Given the description of an element on the screen output the (x, y) to click on. 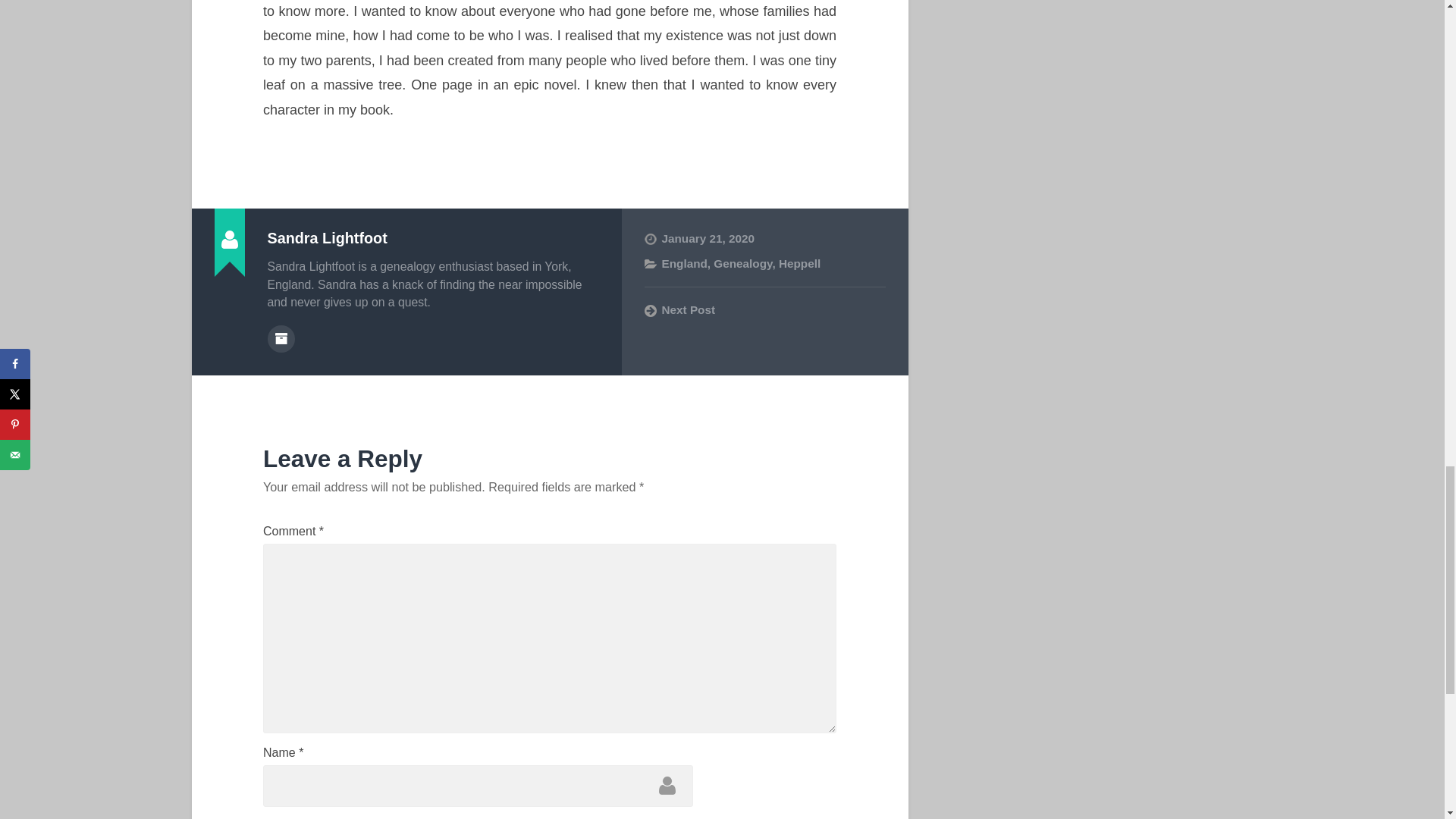
Heppell (799, 263)
Genealogy (742, 263)
England (683, 263)
Author archive (280, 338)
Next Post (765, 309)
